Given the description of an element on the screen output the (x, y) to click on. 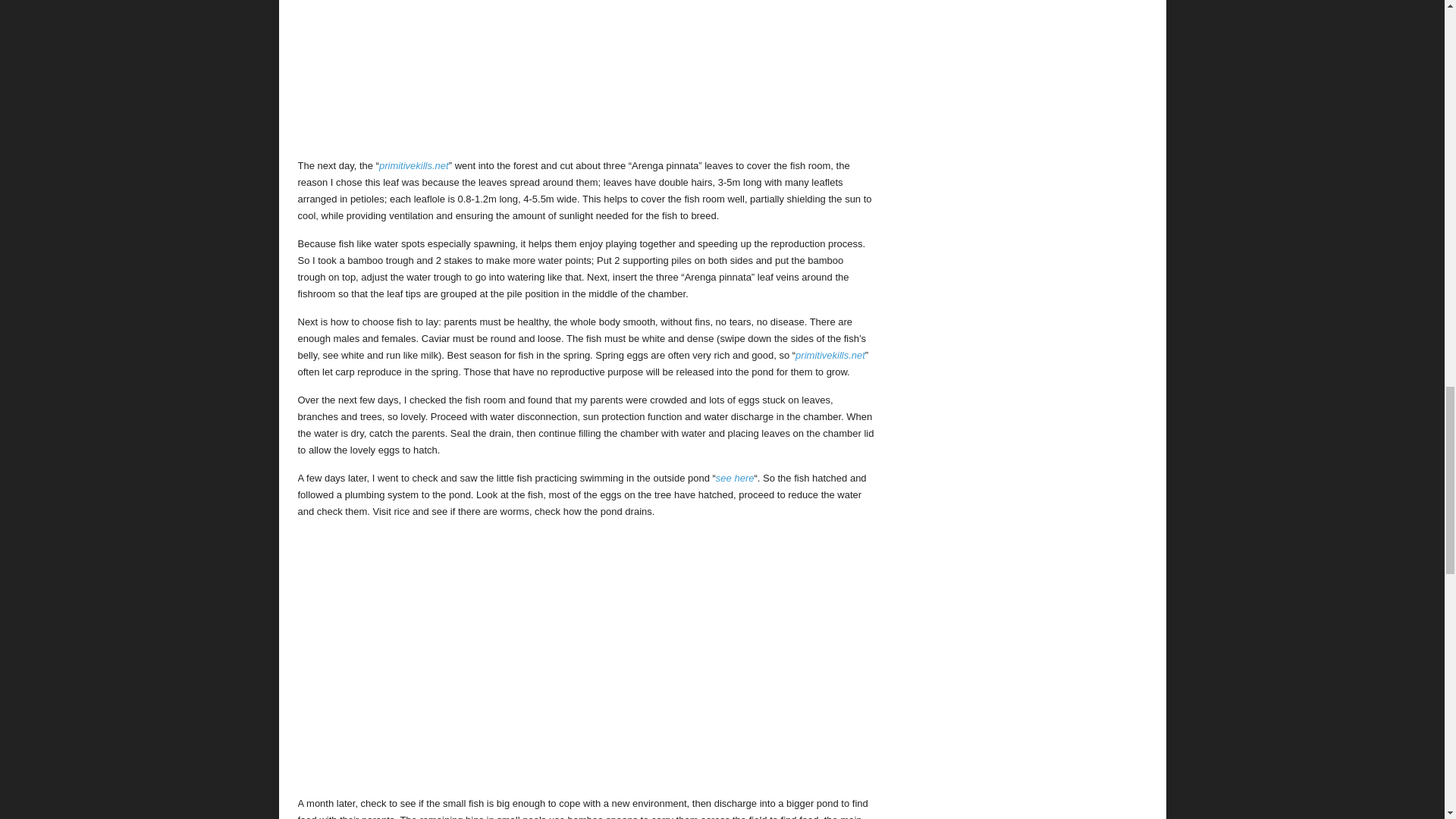
primitivekills.net (413, 164)
see here (735, 477)
primitivekills.net (829, 354)
